Given the description of an element on the screen output the (x, y) to click on. 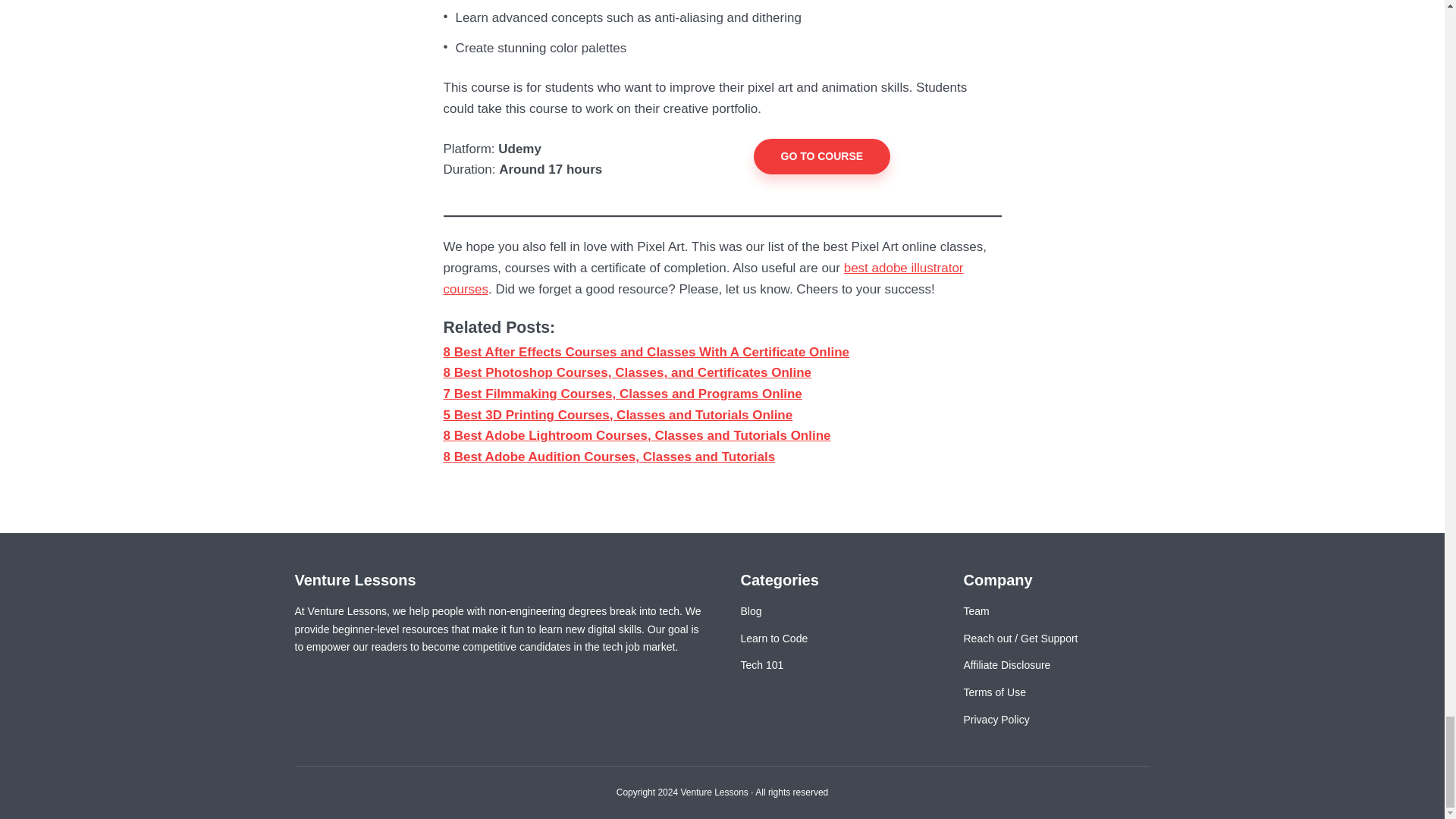
8 Best Adobe Lightroom Courses, Classes and Tutorials Online (635, 435)
5 Best 3D Printing Courses, Classes and Tutorials Online (617, 414)
8 Best Adobe Audition Courses, Classes and Tutorials (608, 456)
7 Best Filmmaking Courses, Classes and Programs Online (622, 393)
8 Best Photoshop Courses, Classes, and Certificates Online (626, 372)
